Given the description of an element on the screen output the (x, y) to click on. 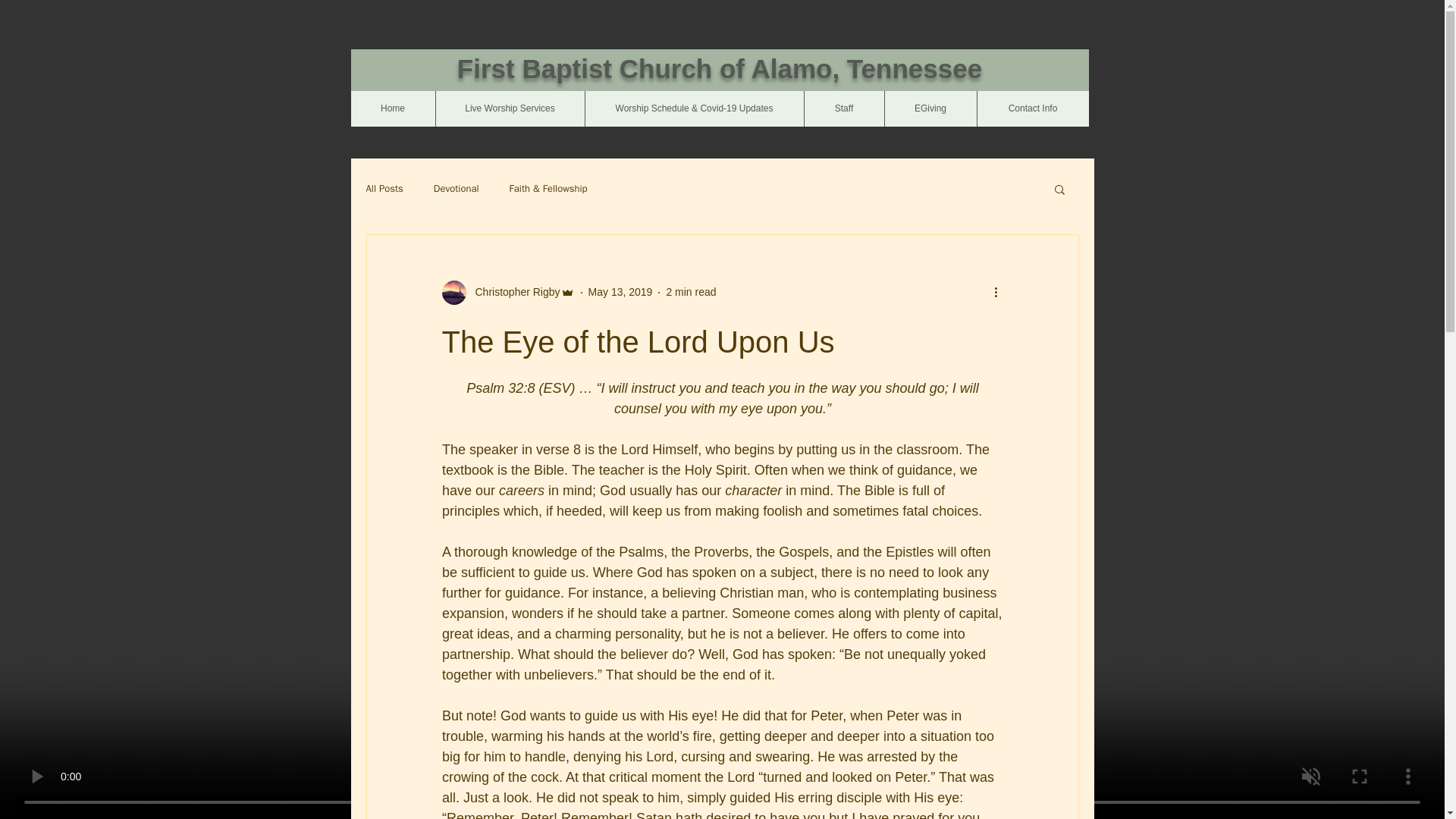
EGiving (929, 108)
Christopher Rigby (507, 292)
All Posts (384, 188)
Christopher Rigby (512, 292)
May 13, 2019 (620, 291)
Live Worship Services (510, 108)
Devotional (456, 188)
Home (391, 108)
2 min read (690, 291)
Staff (843, 108)
